Given the description of an element on the screen output the (x, y) to click on. 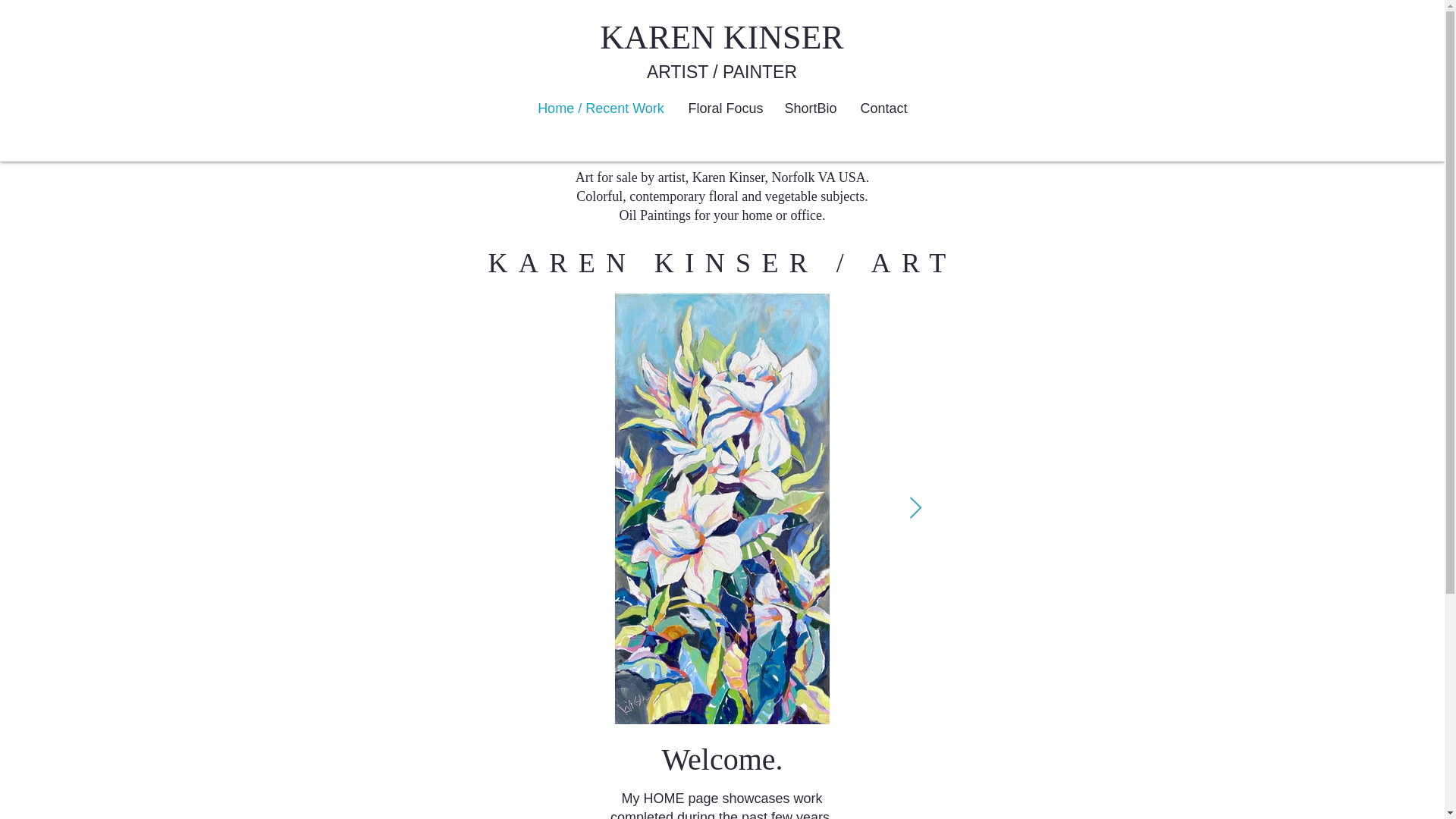
Floral Focus (725, 108)
ShortBio (810, 108)
KAREN KINSER (721, 37)
Contact (882, 108)
